Given the description of an element on the screen output the (x, y) to click on. 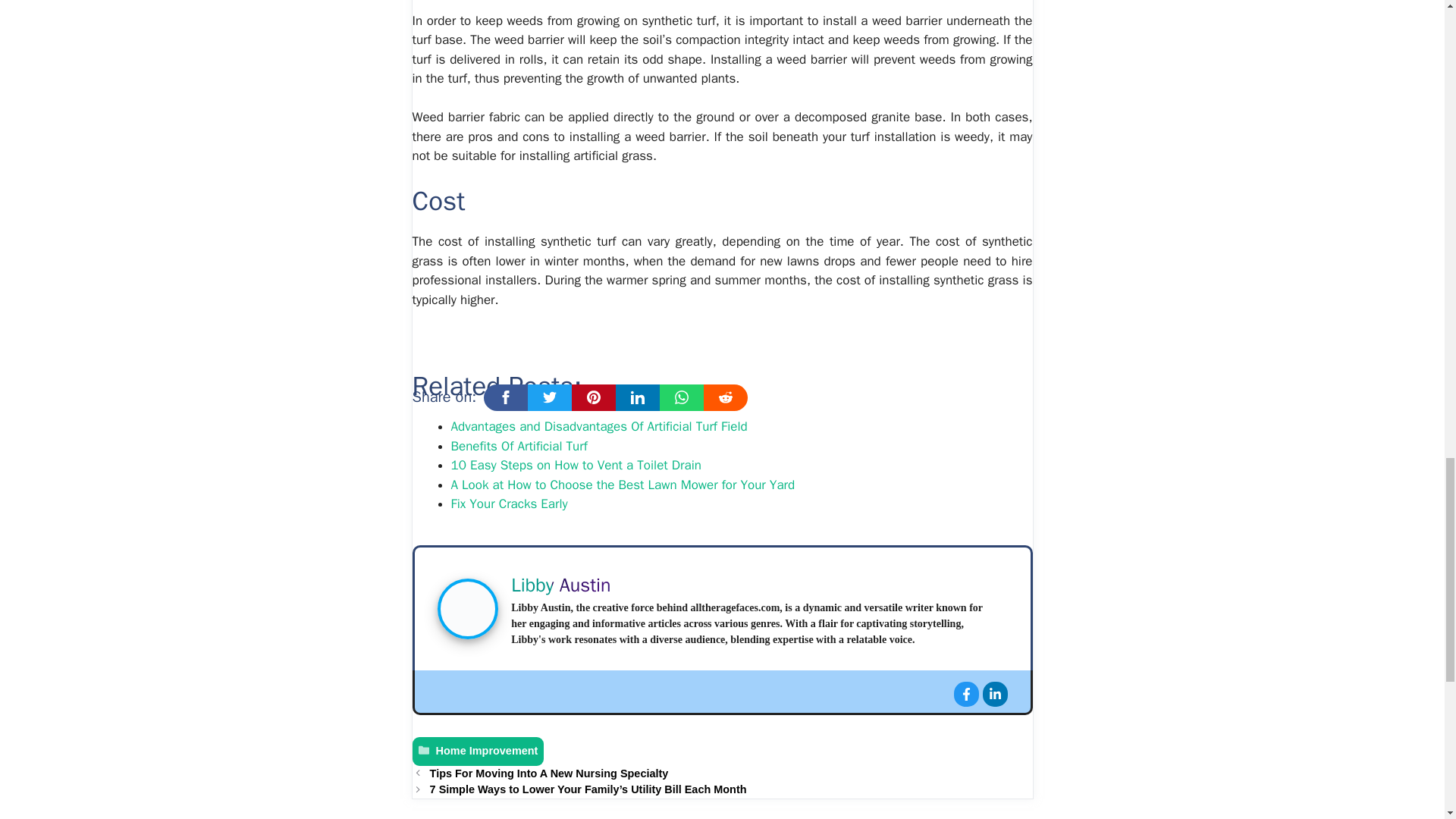
A Look at How to Choose the Best Lawn Mower for Your Yard (621, 484)
Advantages and Disadvantages Of Artificial Turf Field (597, 426)
10 Easy Steps on How to Vent a Toilet Drain (574, 465)
Benefits Of Artificial Turf (517, 446)
Fix Your Cracks Early (508, 503)
